Given the description of an element on the screen output the (x, y) to click on. 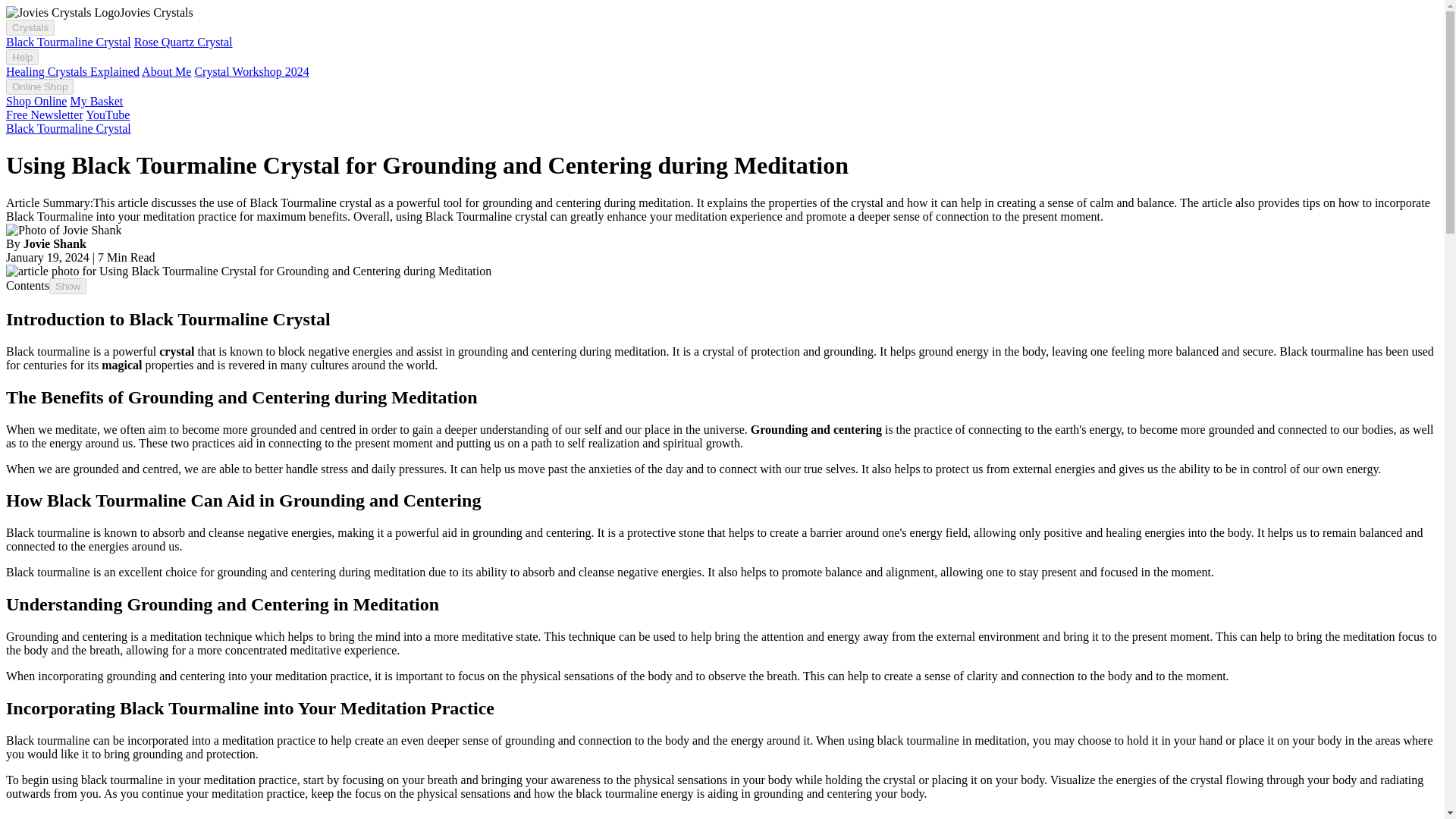
Black Tourmaline Crystal (68, 128)
My Basket (95, 101)
Shop Online (35, 101)
Black Tourmaline Crystal (68, 42)
Crystal Workshop 2024 (250, 71)
Healing Crystals Explained (72, 71)
Black Tourmaline Crystal (68, 128)
Rose Quartz Crystal (182, 42)
Healing Crystals Explained (72, 71)
Crystal Workshop 2024 (250, 71)
Newsletter (43, 114)
Jovies Crystals on YouTube (107, 114)
Rose Quartz Crystal (182, 42)
Black Tourmaline Crystal (68, 42)
Help (22, 57)
